Given the description of an element on the screen output the (x, y) to click on. 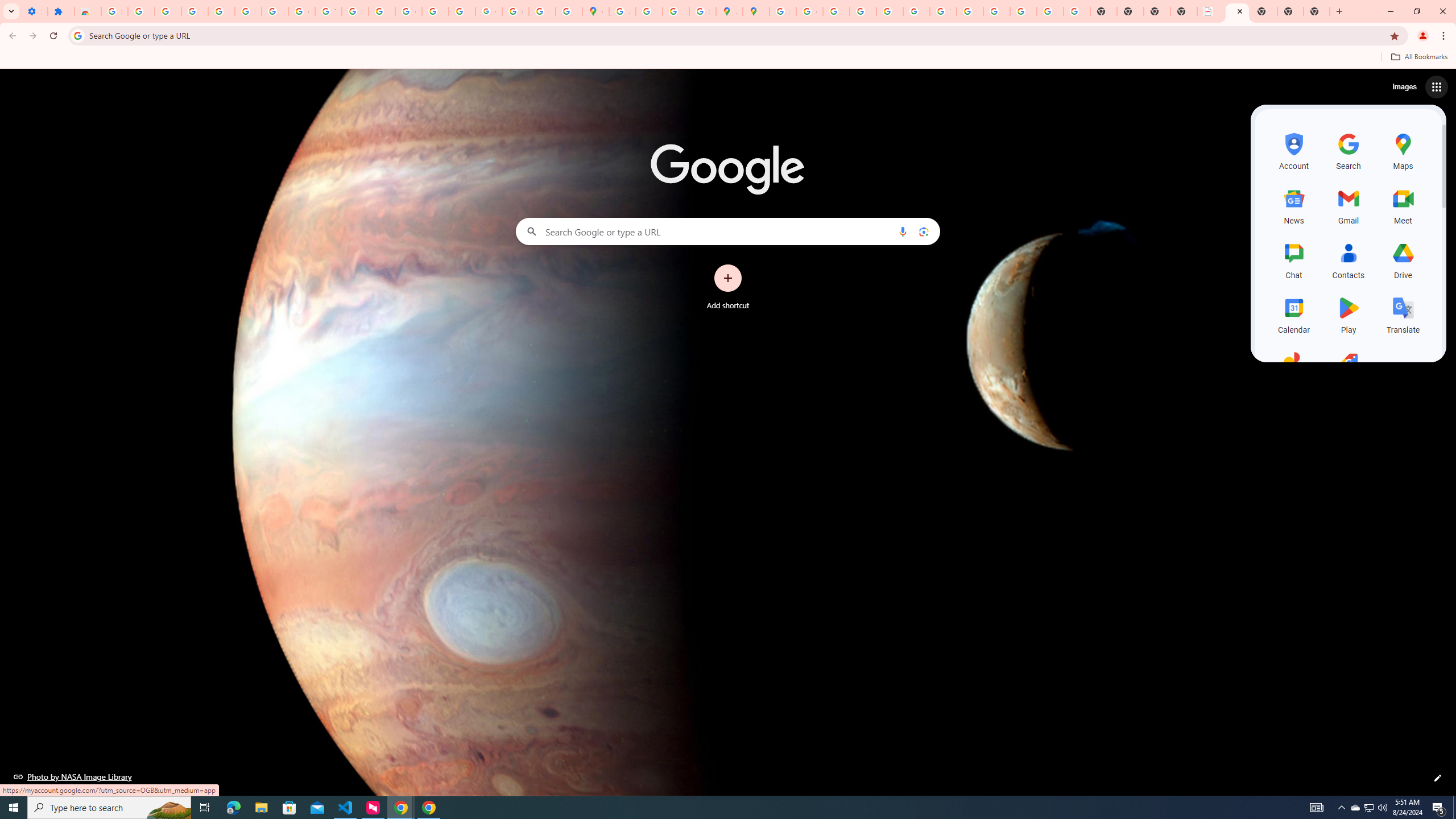
Translate, row 4 of 5 and column 3 of 3 in the first section (1402, 313)
New Tab (1316, 11)
Search Google or type a URL (727, 230)
YouTube (328, 11)
Safety in Our Products - Google Safety Center (702, 11)
Photos, row 5 of 5 and column 1 of 3 in the first section (1293, 368)
LAAD Defence & Security 2025 | BAE Systems (1210, 11)
